Given the description of an element on the screen output the (x, y) to click on. 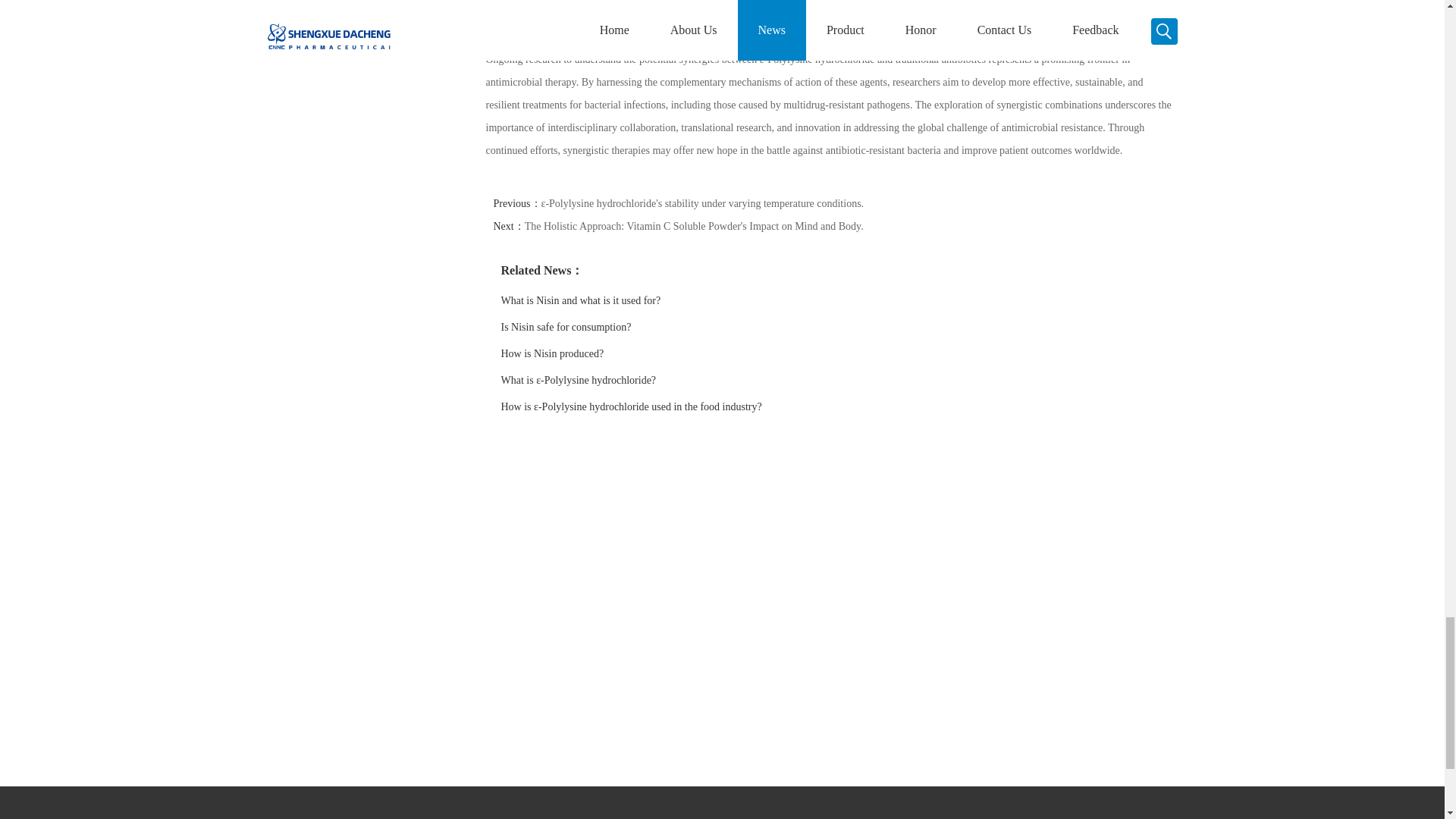
How is Nisin produced? (561, 353)
What is Nisin and what is it used for? (595, 300)
Is Nisin safe for consumption? (577, 326)
